Given the description of an element on the screen output the (x, y) to click on. 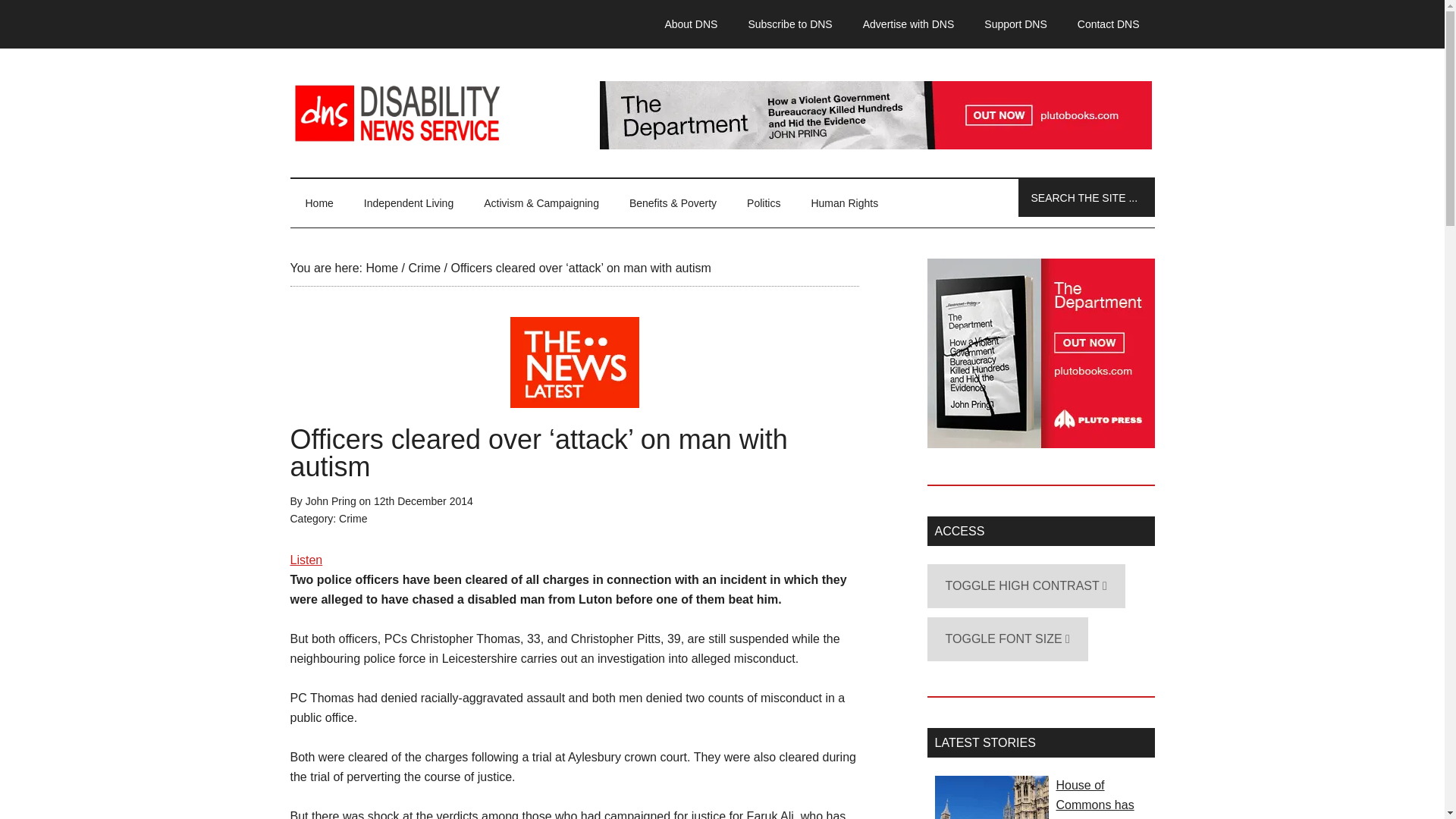
John Pring (330, 500)
Crime (424, 267)
Politics (763, 203)
Contact DNS (1108, 24)
Human Rights (843, 203)
Disability News Service (721, 112)
Independent Living (408, 203)
Subscribe to DNS (789, 24)
Home (381, 267)
